Given the description of an element on the screen output the (x, y) to click on. 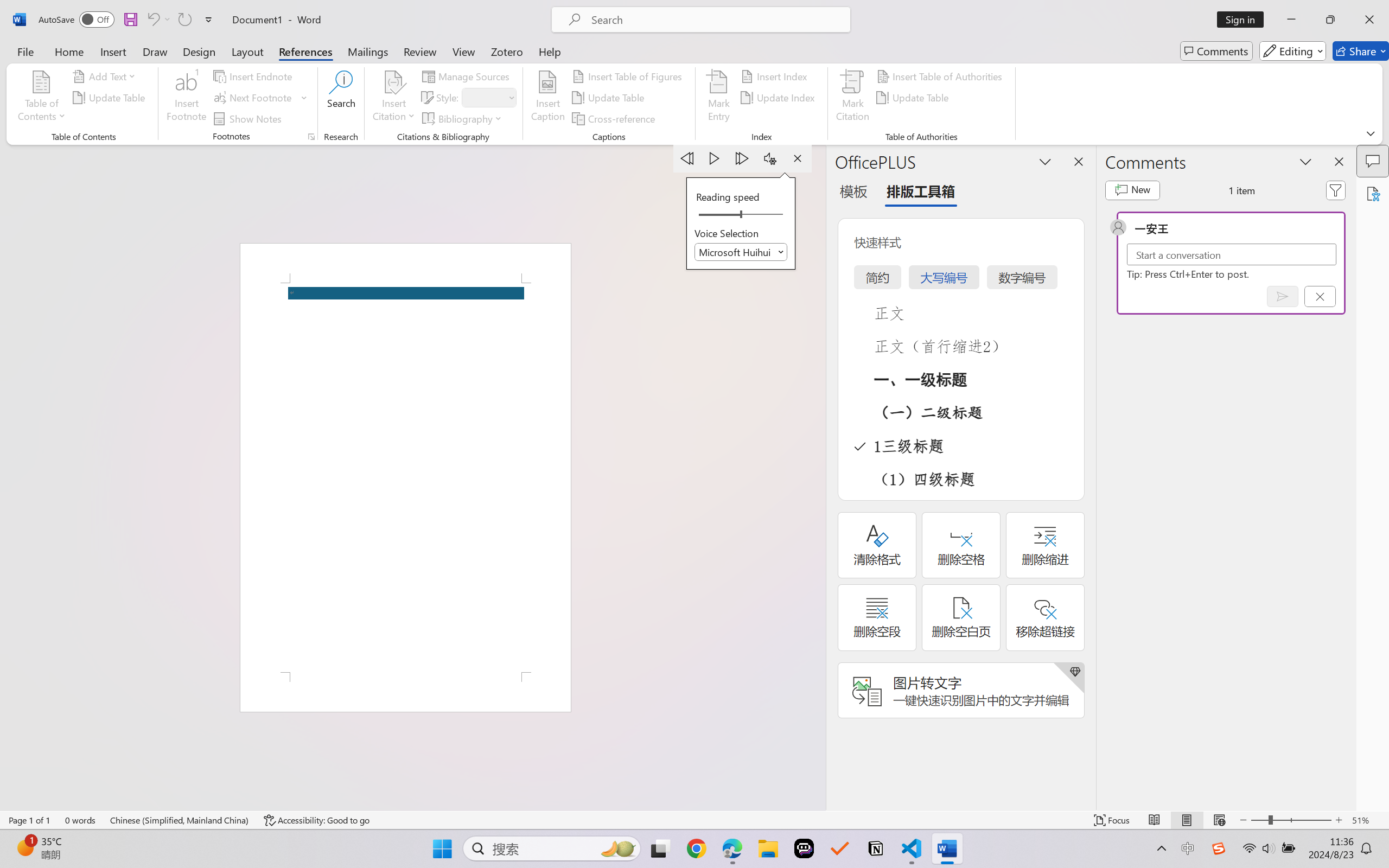
Table of Contents (42, 97)
Update Index (778, 97)
Language Chinese (Simplified, Mainland China) (179, 819)
Insert Table of Authorities... (941, 75)
Insert Endnote (253, 75)
Manage Sources... (467, 75)
Start a conversation (1231, 254)
New comment (1132, 190)
